Given the description of an element on the screen output the (x, y) to click on. 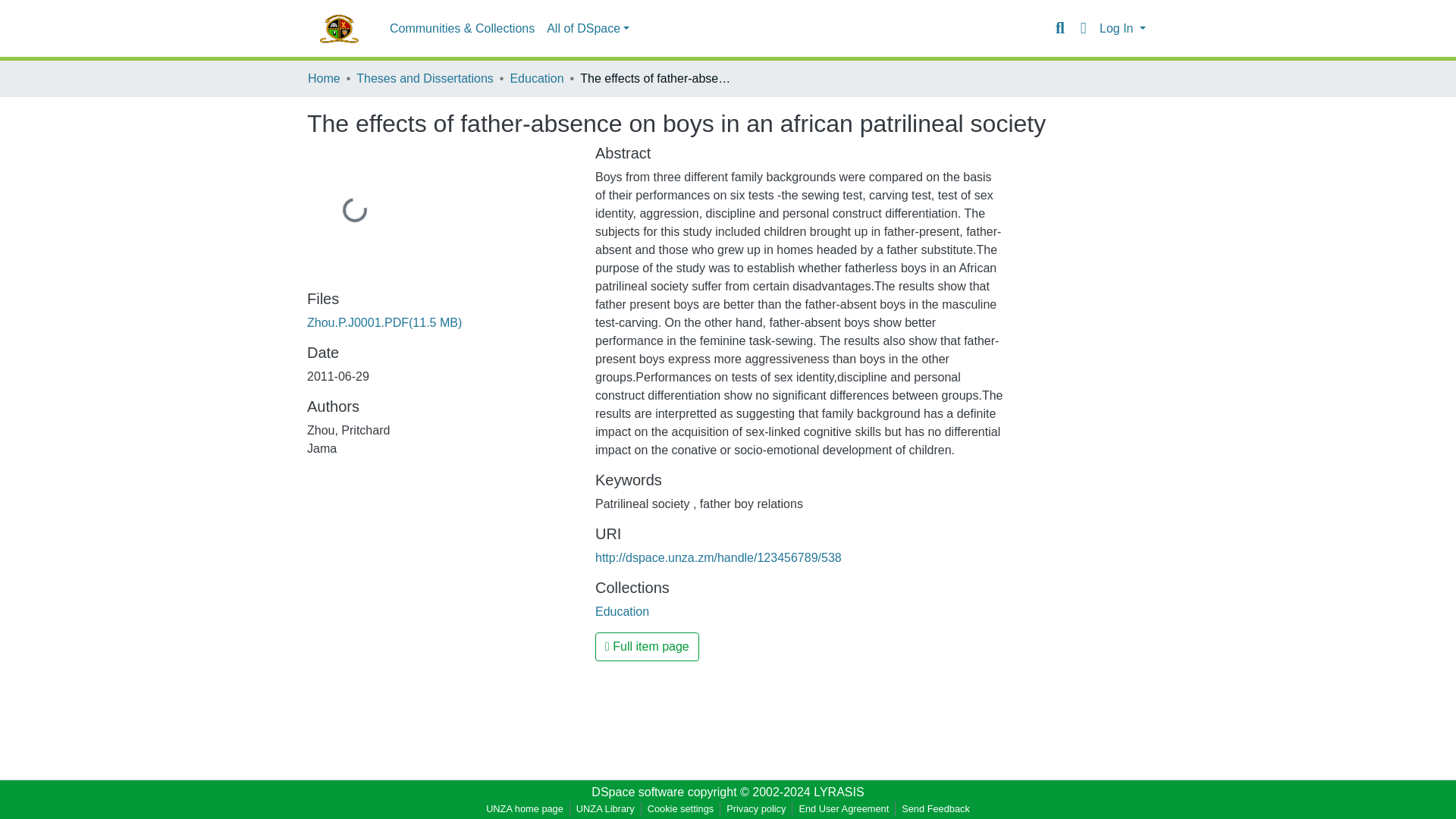
UNZA Library (605, 808)
LYRASIS (838, 791)
Search (1059, 28)
UNZA home page (524, 808)
Home (323, 78)
Send Feedback (935, 808)
Theses and Dissertations (424, 78)
Education (536, 78)
Language switch (1083, 28)
DSpace software (637, 791)
